Given the description of an element on the screen output the (x, y) to click on. 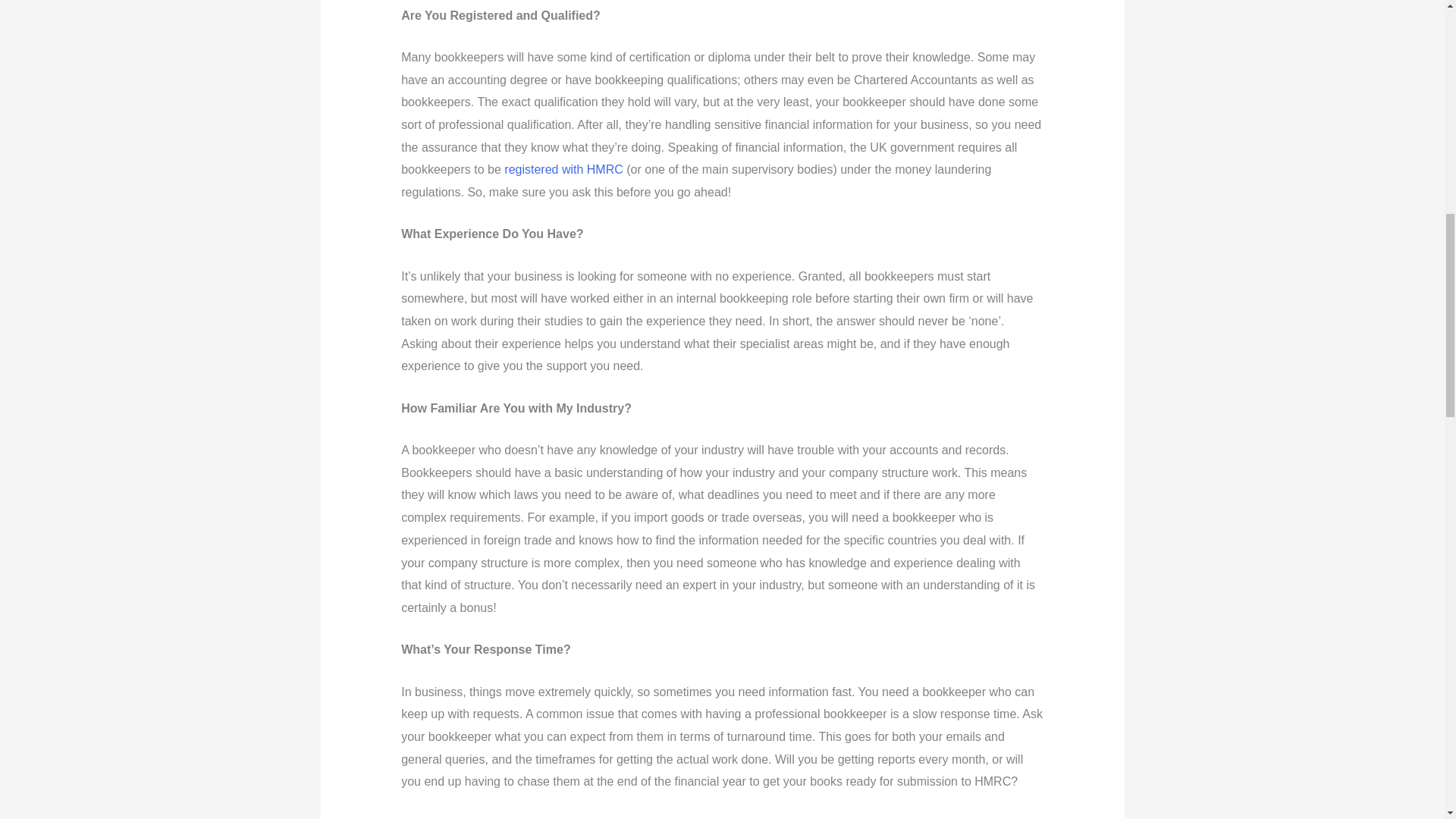
registered with HMRC (563, 169)
